Given the description of an element on the screen output the (x, y) to click on. 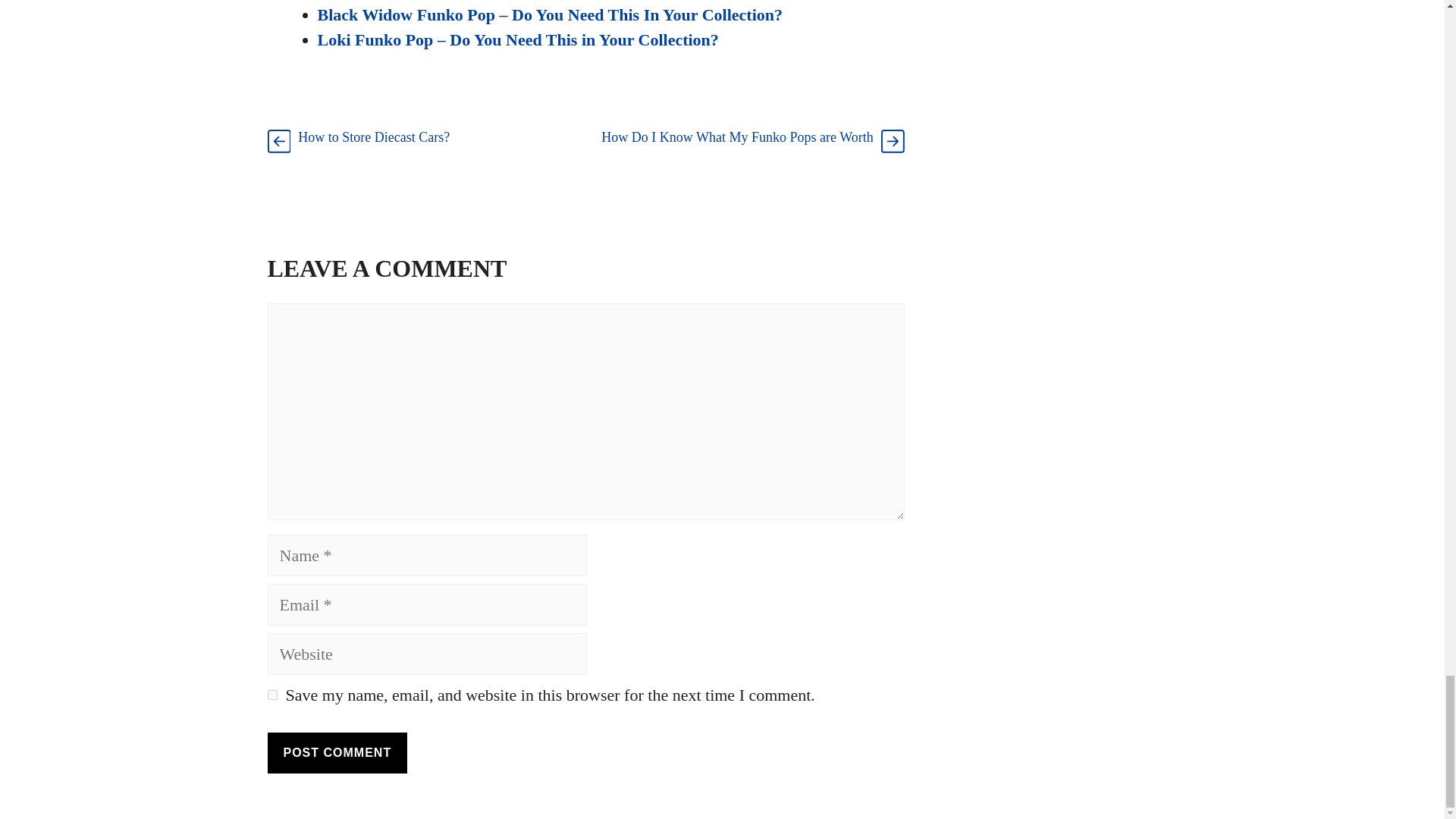
How Do I Know What My Funko Pops are Worth (736, 136)
Post Comment (336, 752)
How to Store Diecast Cars? (373, 136)
Post Comment (336, 752)
yes (271, 695)
